Given the description of an element on the screen output the (x, y) to click on. 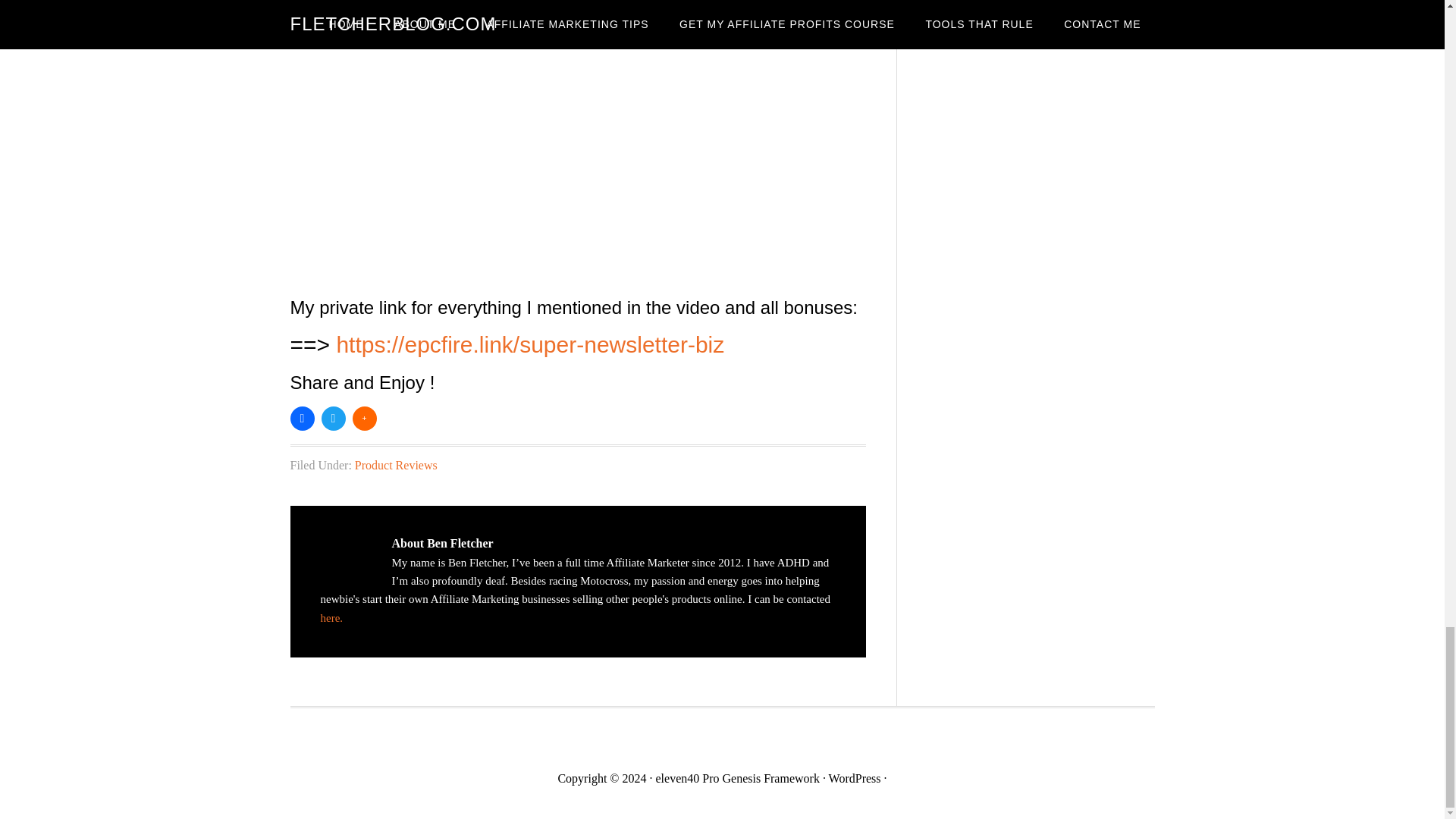
Tweet this ! (333, 417)
WordPress (854, 778)
Share this on Facebook (301, 417)
More share links (363, 417)
Genesis Framework (770, 778)
eleven40 Pro (687, 778)
Product Reviews (396, 464)
here. (331, 617)
